Given the description of an element on the screen output the (x, y) to click on. 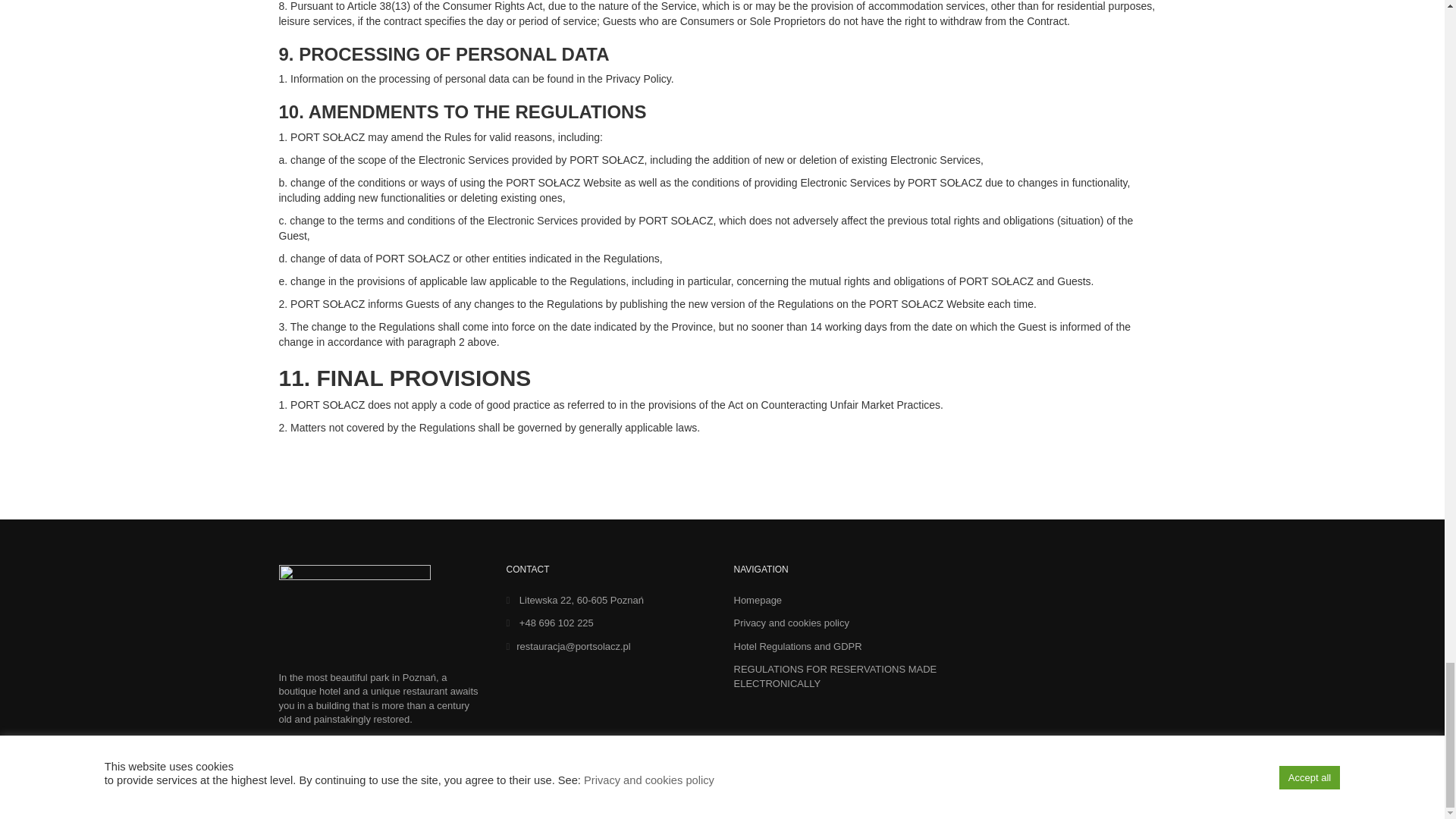
Homepage (758, 600)
Hotel Regulations and GDPR (797, 645)
REGULATIONS FOR RESERVATIONS MADE ELECTRONICALLY (835, 676)
Privacy and cookies policy (790, 622)
